Given the description of an element on the screen output the (x, y) to click on. 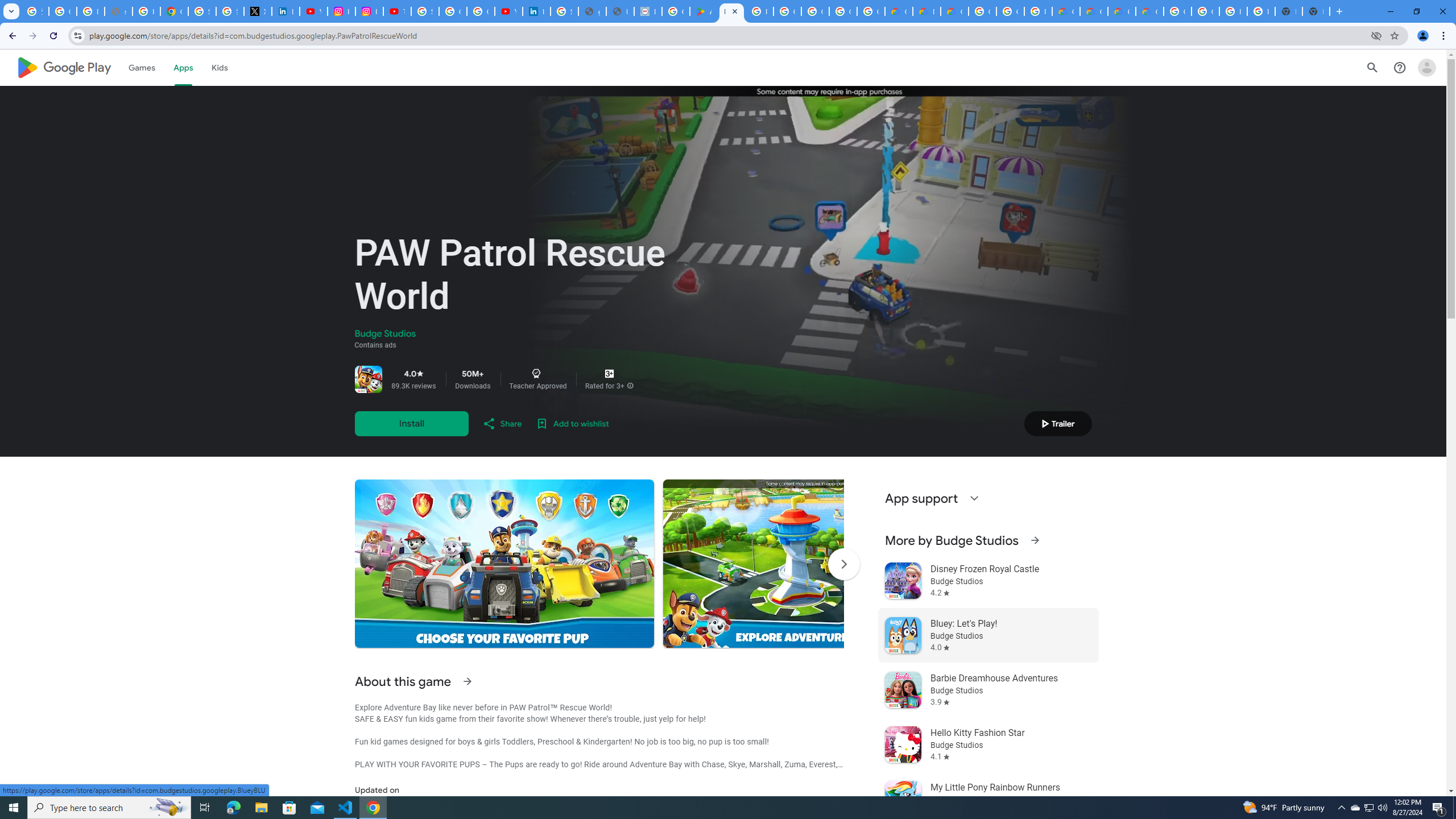
Screenshot image (812, 563)
Search (1372, 67)
support.google.com - Network error (118, 11)
Apps (182, 67)
Data Privacy Framework (647, 11)
Open account menu (1426, 67)
Share (502, 422)
